Given the description of an element on the screen output the (x, y) to click on. 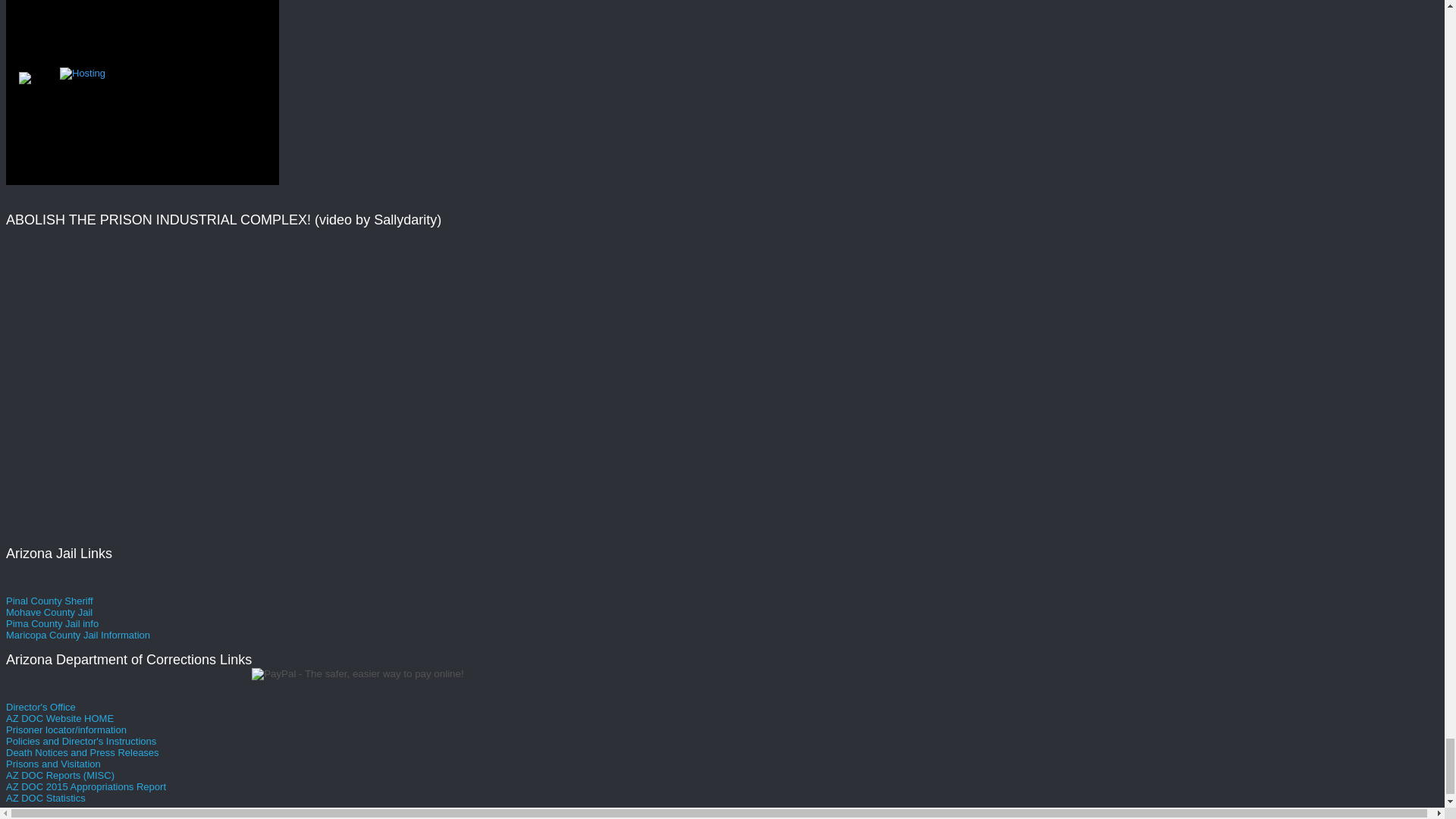
Free Blog Counters, Stats and Widgets (24, 80)
